Given the description of an element on the screen output the (x, y) to click on. 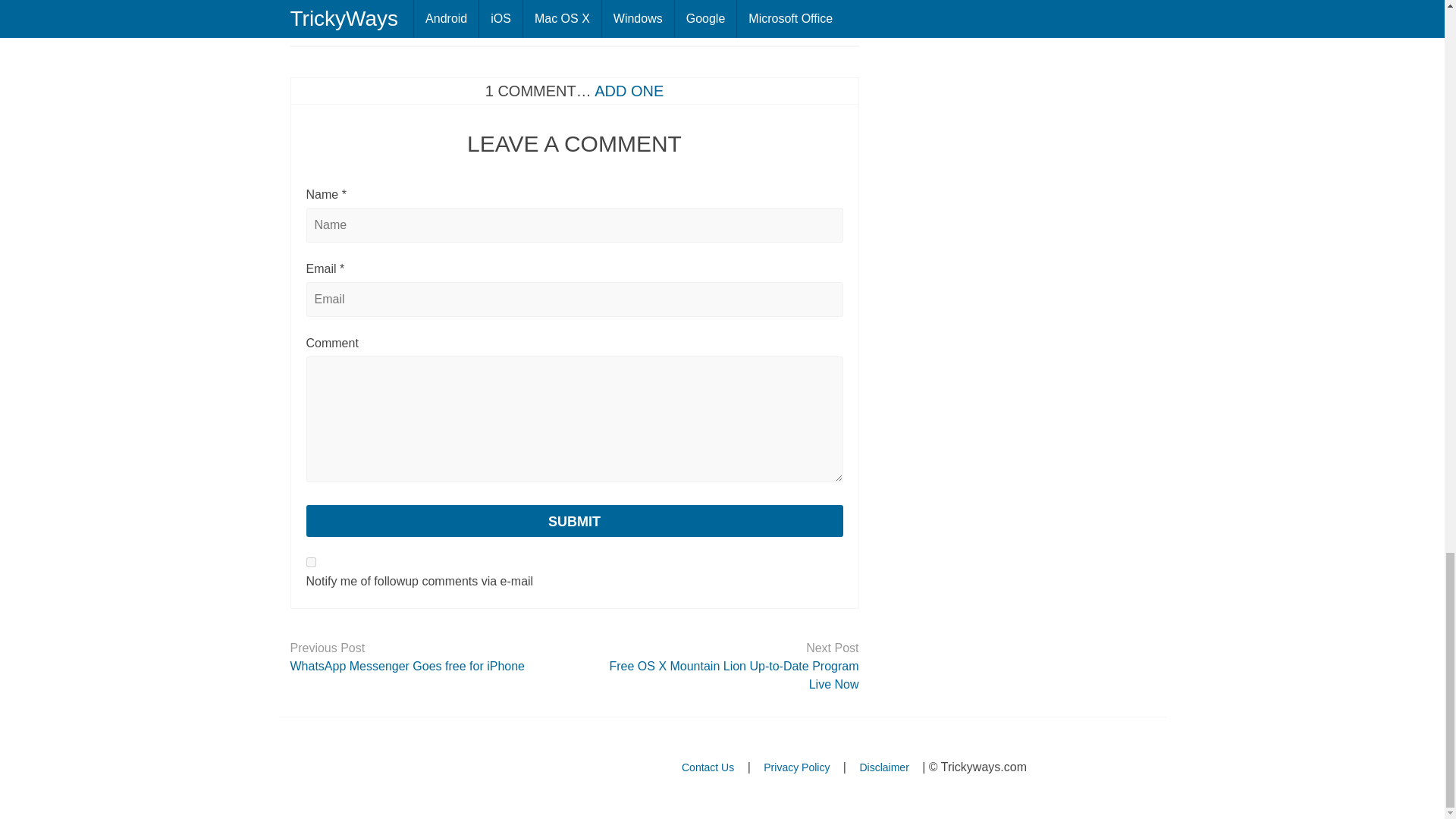
Submit (574, 521)
subscribe (310, 562)
Privacy Policy (797, 768)
ADD ONE (628, 90)
WhatsApp Messenger Goes free for iPhone (425, 666)
Free OS X Mountain Lion Up-to-Date Program Live Now (722, 675)
Submit (574, 521)
Contact Us (707, 768)
